Given the description of an element on the screen output the (x, y) to click on. 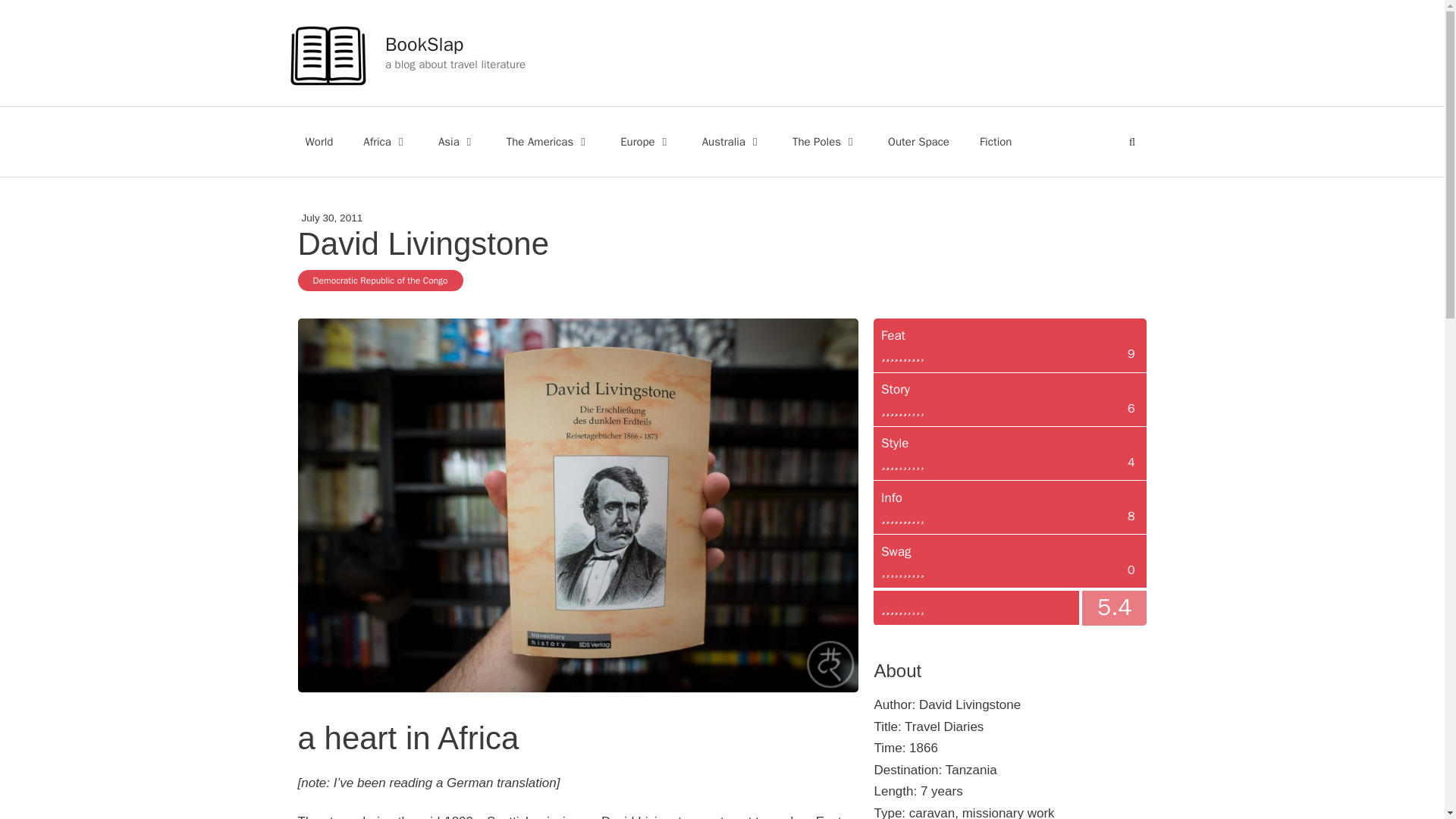
Asia (457, 141)
The Americas (548, 141)
Africa (385, 141)
BookSlap (424, 44)
World (318, 141)
